Given the description of an element on the screen output the (x, y) to click on. 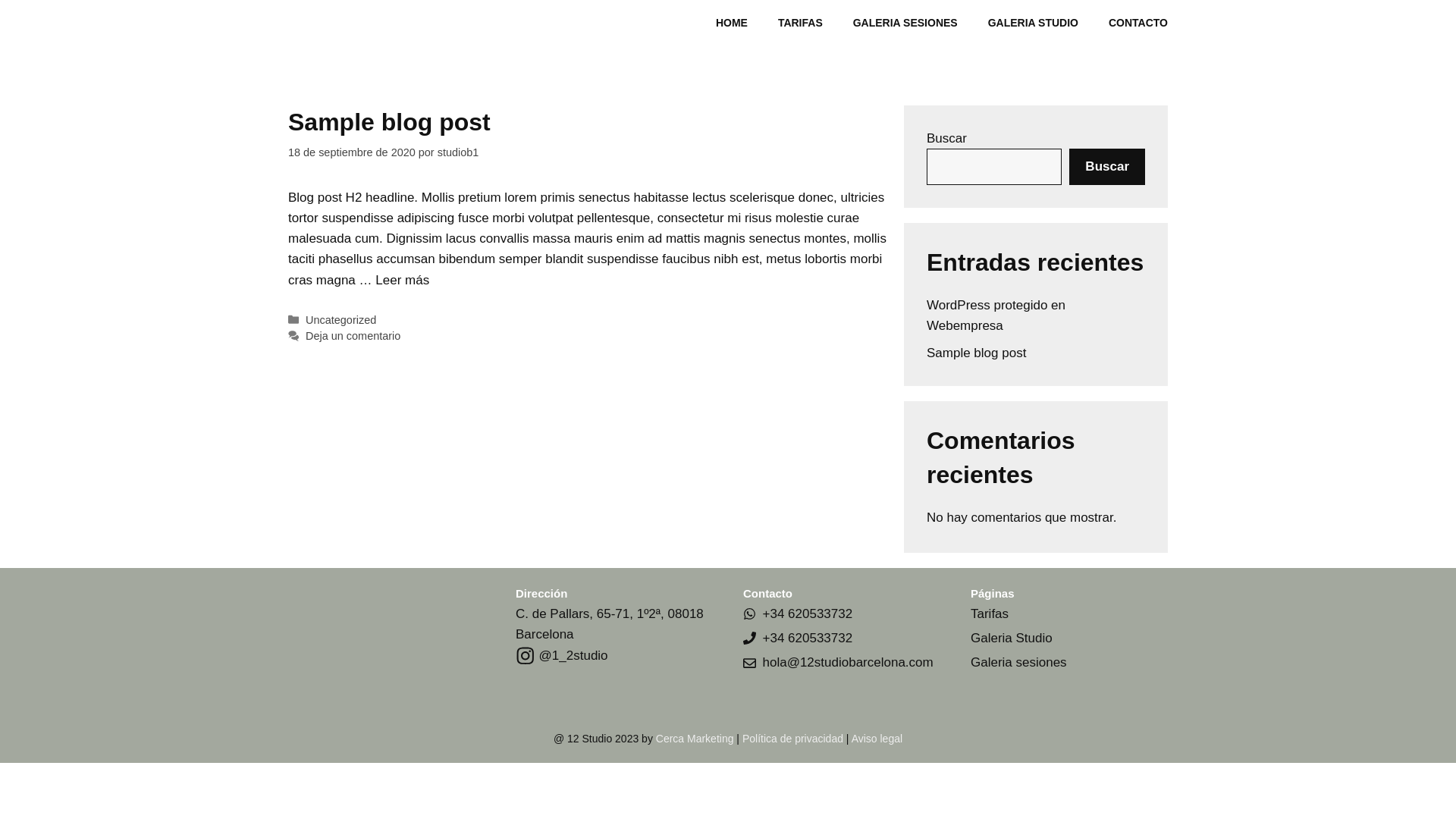
Sample blog post Element type: text (389, 121)
TARIFAS Element type: text (799, 22)
Aviso legal Element type: text (876, 738)
Galeria sesiones Element type: text (1018, 662)
Uncategorized Element type: text (340, 319)
+34 620533732 Element type: text (807, 637)
Galeria Studio Element type: text (1011, 637)
Sample blog post Element type: text (976, 352)
studiob1 Element type: text (458, 152)
Tarifas Element type: text (989, 613)
Buscar Element type: text (1107, 166)
WordPress protegido en Webempresa Element type: text (995, 315)
HOME Element type: text (731, 22)
hola@12studiobarcelona.com Element type: text (847, 662)
Deja un comentario Element type: text (352, 335)
CONTACTO Element type: text (1138, 22)
+34 620533732 Element type: text (807, 613)
@1_2studio Element type: text (561, 655)
GALERIA STUDIO Element type: text (1032, 22)
GALERIA SESIONES Element type: text (904, 22)
Cerca Marketing Element type: text (694, 738)
